Given the description of an element on the screen output the (x, y) to click on. 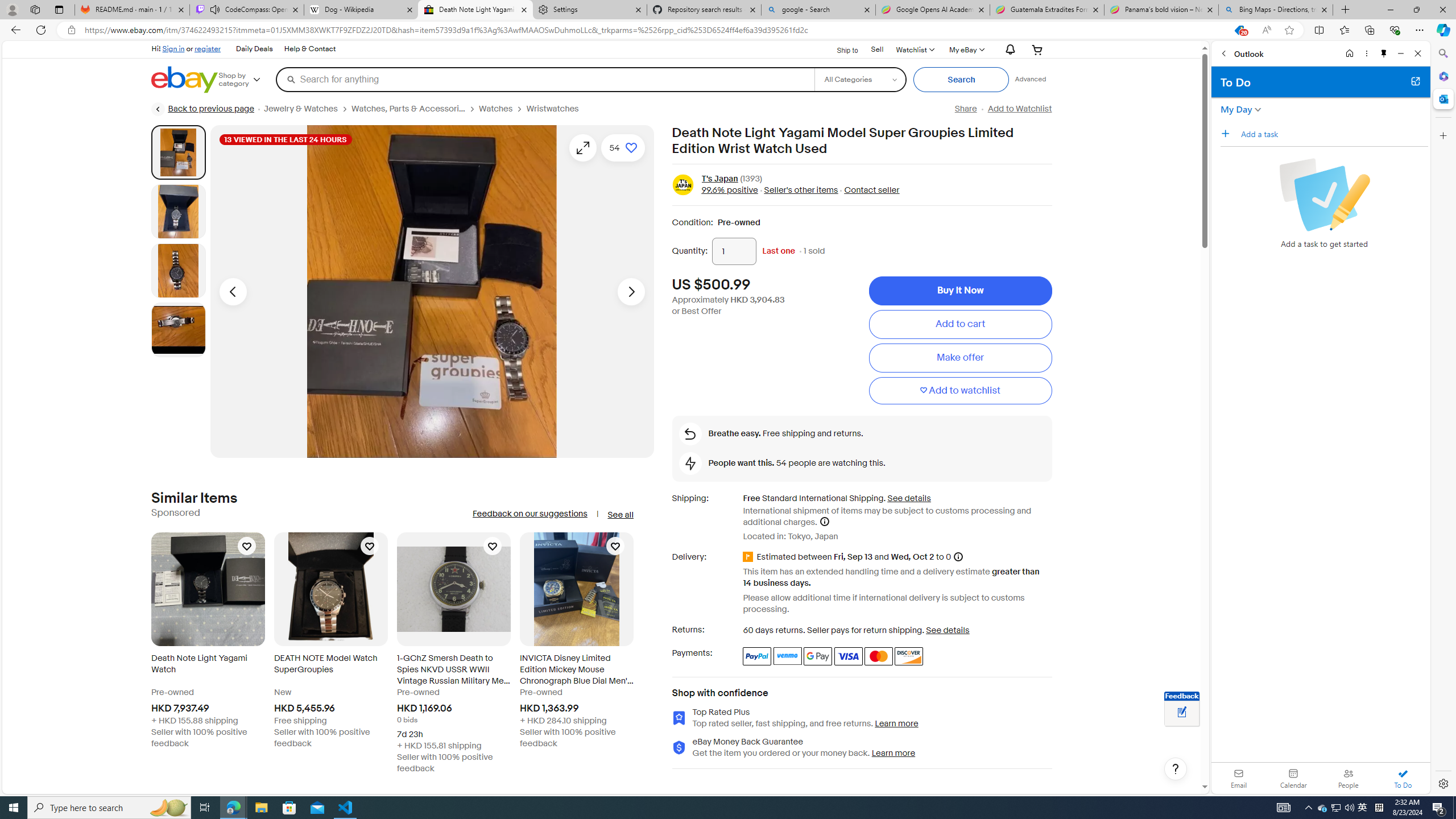
Seller's other items (801, 190)
Help & Contact (309, 49)
Jewelry & Watches (306, 108)
Venmo (787, 656)
99.6% positive (729, 190)
Dog - Wikipedia (360, 9)
My eBayExpand My eBay (966, 49)
Add a task (1228, 133)
Watches (495, 108)
